Given the description of an element on the screen output the (x, y) to click on. 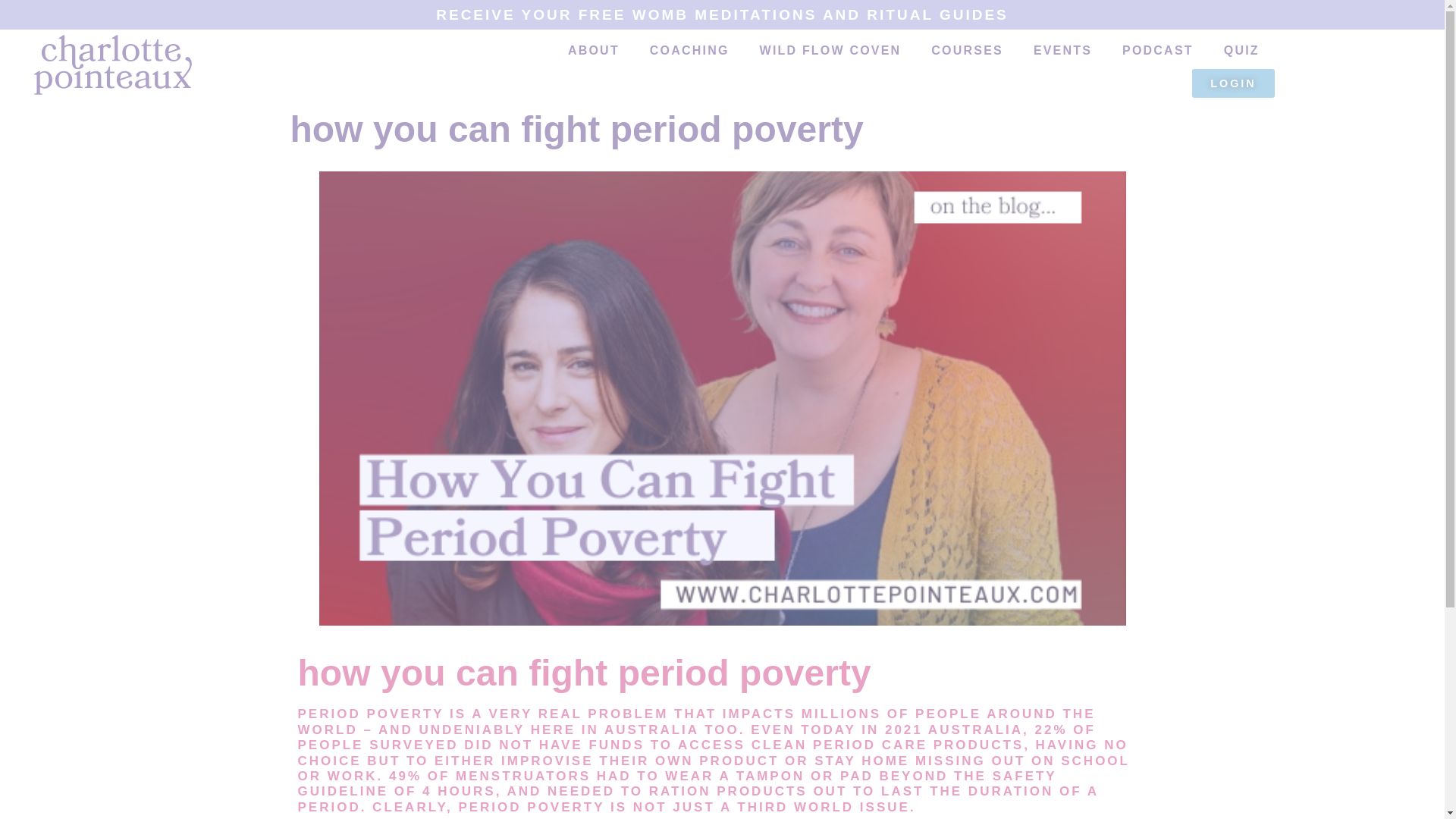
PODCAST (1157, 50)
ABOUT (593, 50)
COACHING (689, 50)
QUIZ (1241, 50)
EVENTS (1061, 50)
WILD FLOW COVEN (830, 50)
RECEIVE YOUR FREE WOMB MEDITATIONS AND RITUAL GUIDES (722, 14)
COURSES (966, 50)
